Given the description of an element on the screen output the (x, y) to click on. 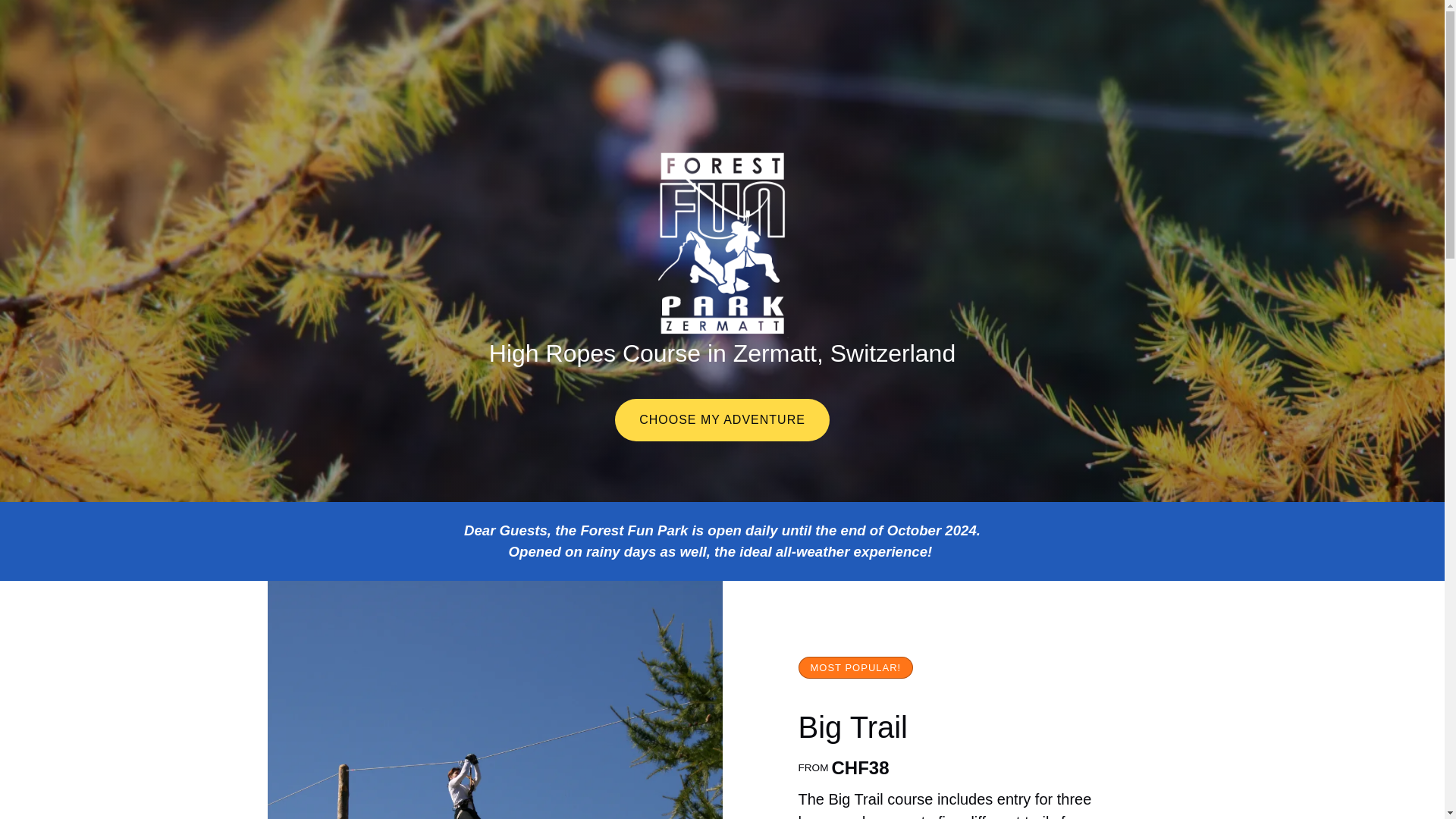
Skip to content (47, 16)
CHOOSE MY ADVENTURE (721, 377)
Skip to footer (42, 16)
Click here to visit Big Trail (852, 726)
Big Trail (852, 726)
Skip to primary navigation (77, 16)
